Given the description of an element on the screen output the (x, y) to click on. 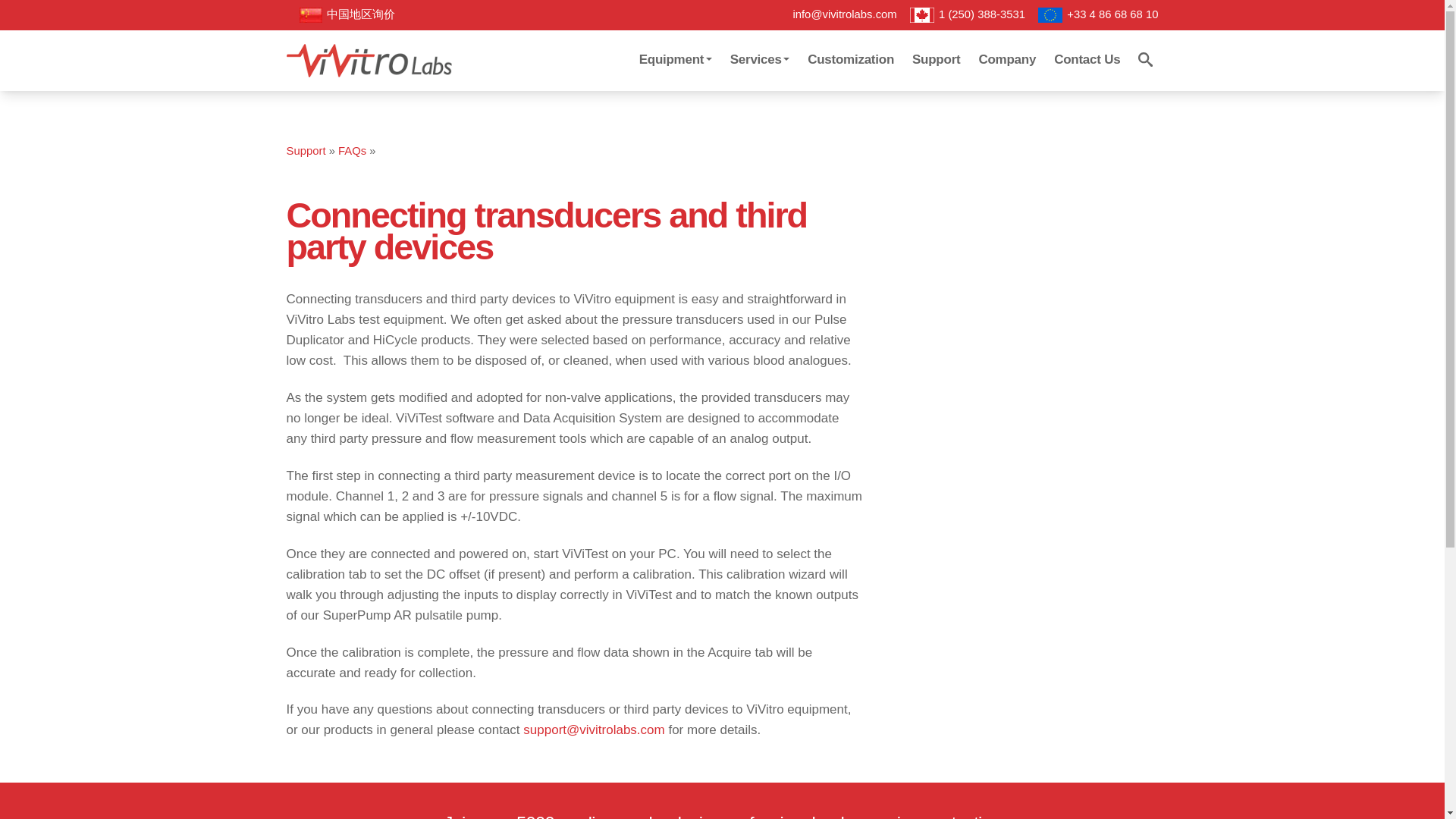
Equipment (675, 59)
Services (758, 59)
Company (1007, 59)
Support (935, 59)
Customization (849, 59)
Contact Us (1087, 59)
